Given the description of an element on the screen output the (x, y) to click on. 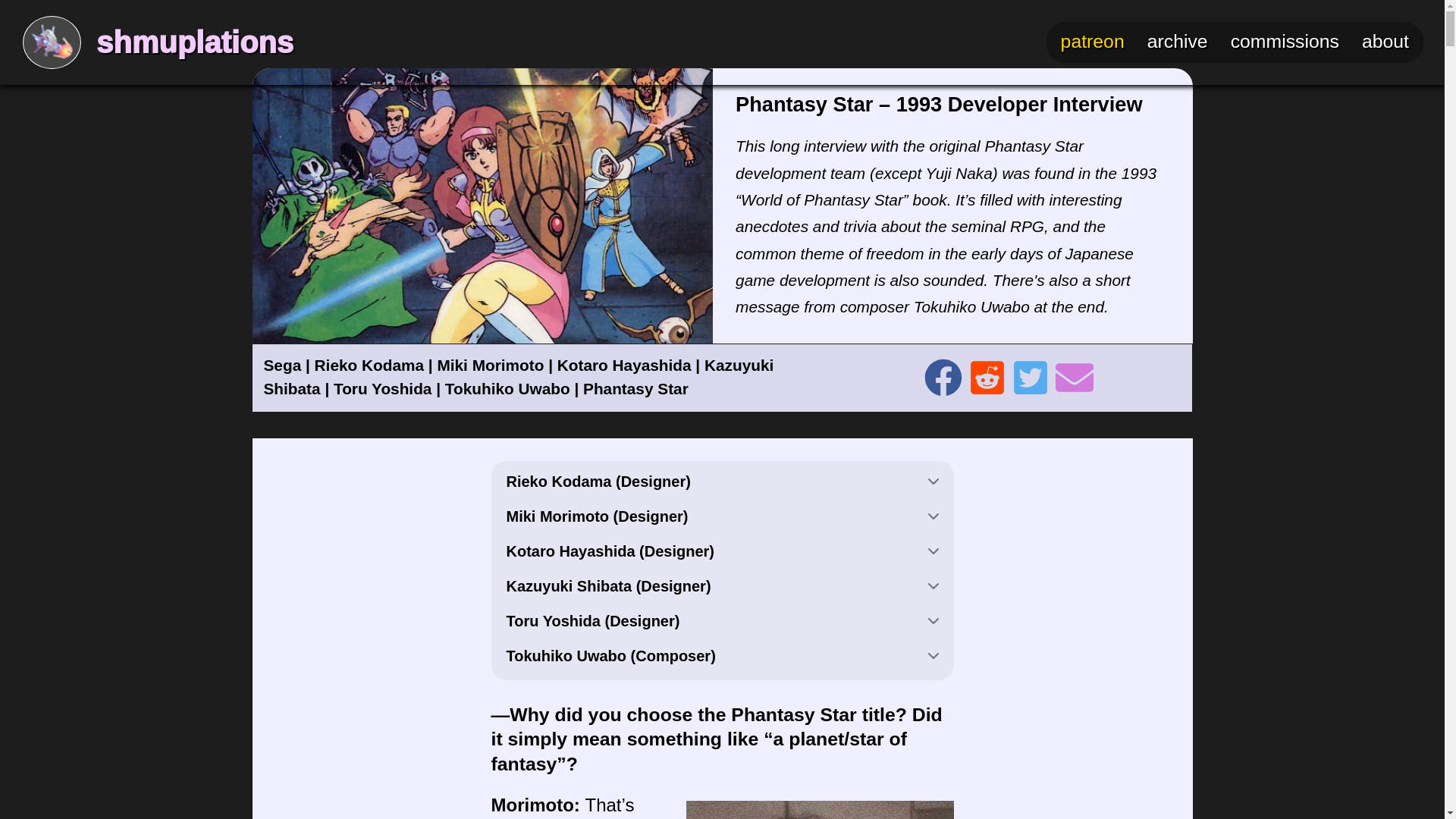
Phantasy Star (635, 388)
shmuplations (195, 41)
Tokuhiko Uwabo (507, 388)
Sega (282, 364)
archive (1177, 41)
Kotaro Hayashida (624, 364)
about (1386, 41)
commissions (1285, 41)
Toru Yoshida (381, 388)
Miki Morimoto (489, 364)
